Given the description of an element on the screen output the (x, y) to click on. 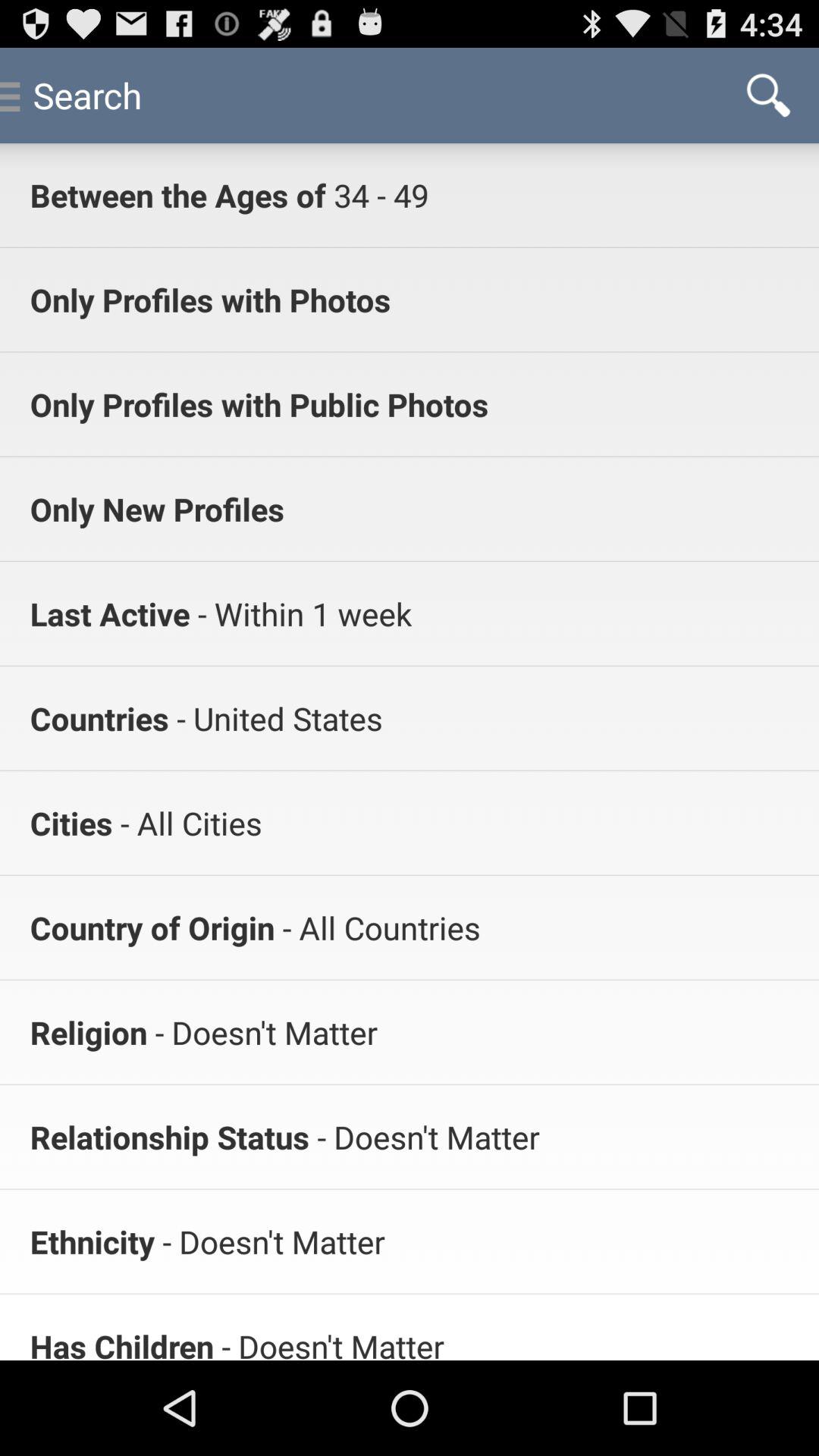
choose the item above the only profiles with (376, 194)
